Given the description of an element on the screen output the (x, y) to click on. 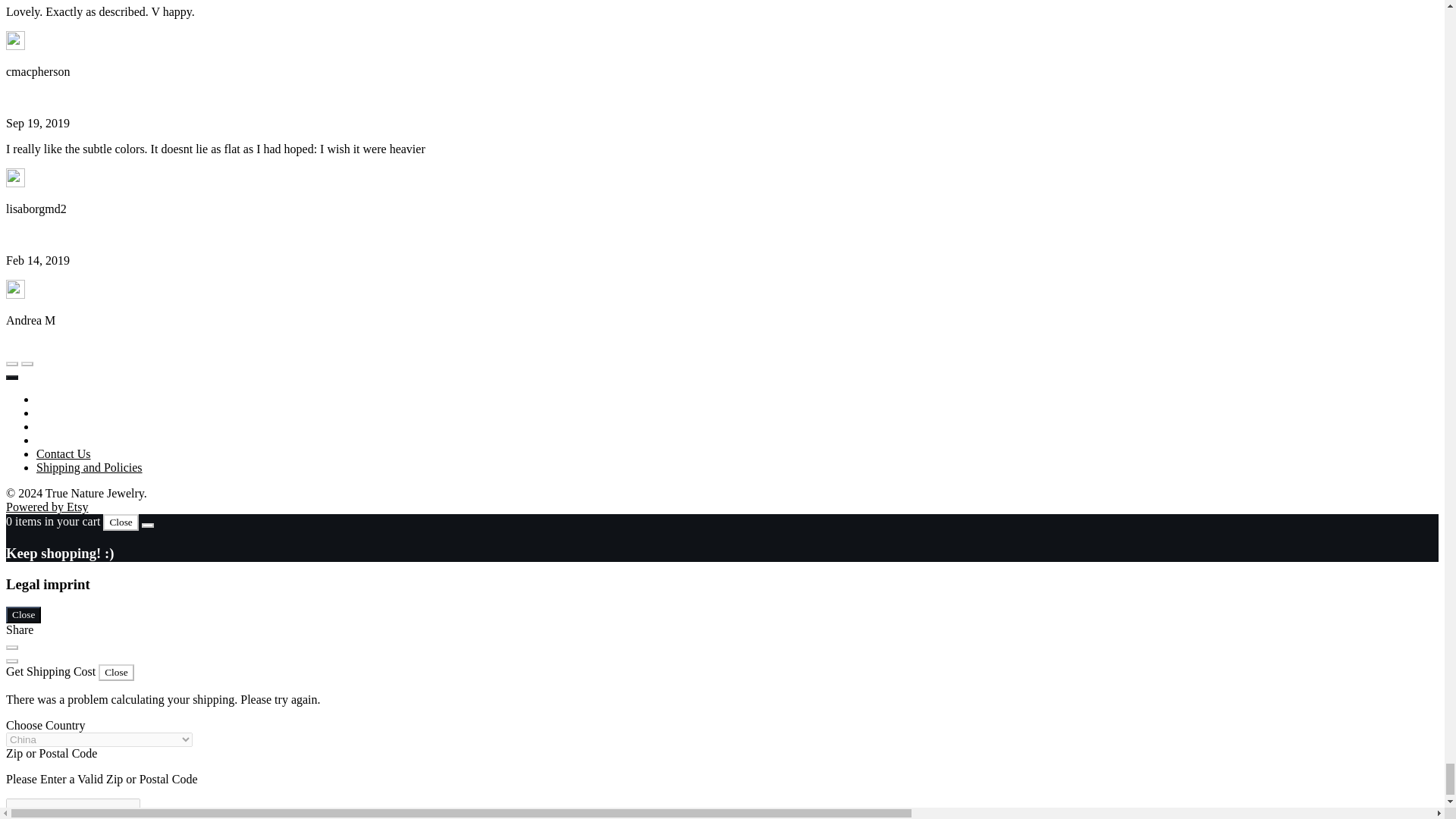
Close (120, 522)
Powered by Etsy (46, 506)
Contact Us (63, 453)
Shipping and Policies (89, 467)
